Given the description of an element on the screen output the (x, y) to click on. 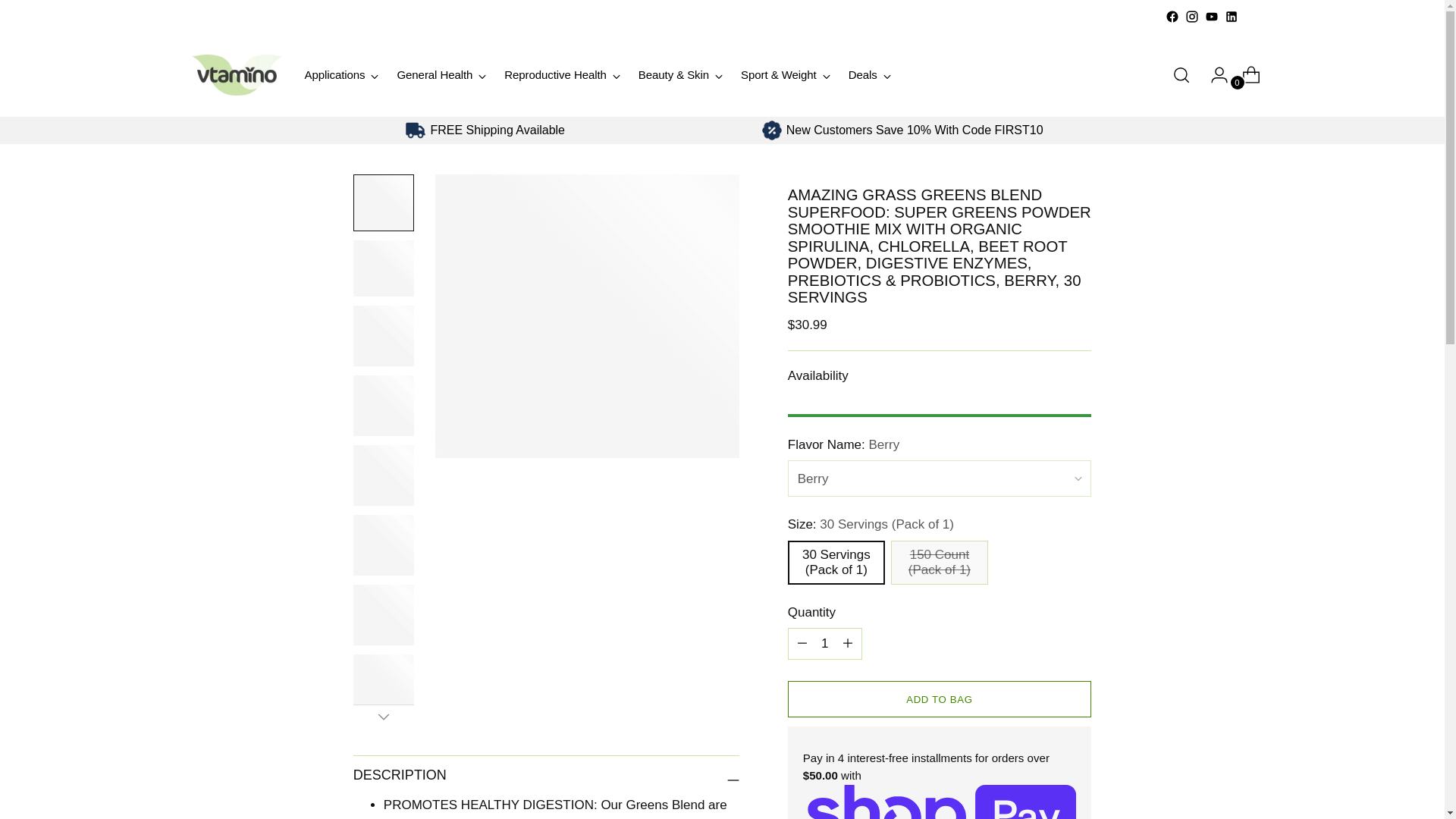
vtamino on Facebook (1170, 16)
vtamino on LinkedIn (1230, 16)
Applications (341, 74)
Reproductive Health (561, 74)
Down (383, 716)
vtamino on Instagram (1191, 16)
1 (824, 643)
General Health (441, 74)
vtamino on YouTube (1210, 16)
